Given the description of an element on the screen output the (x, y) to click on. 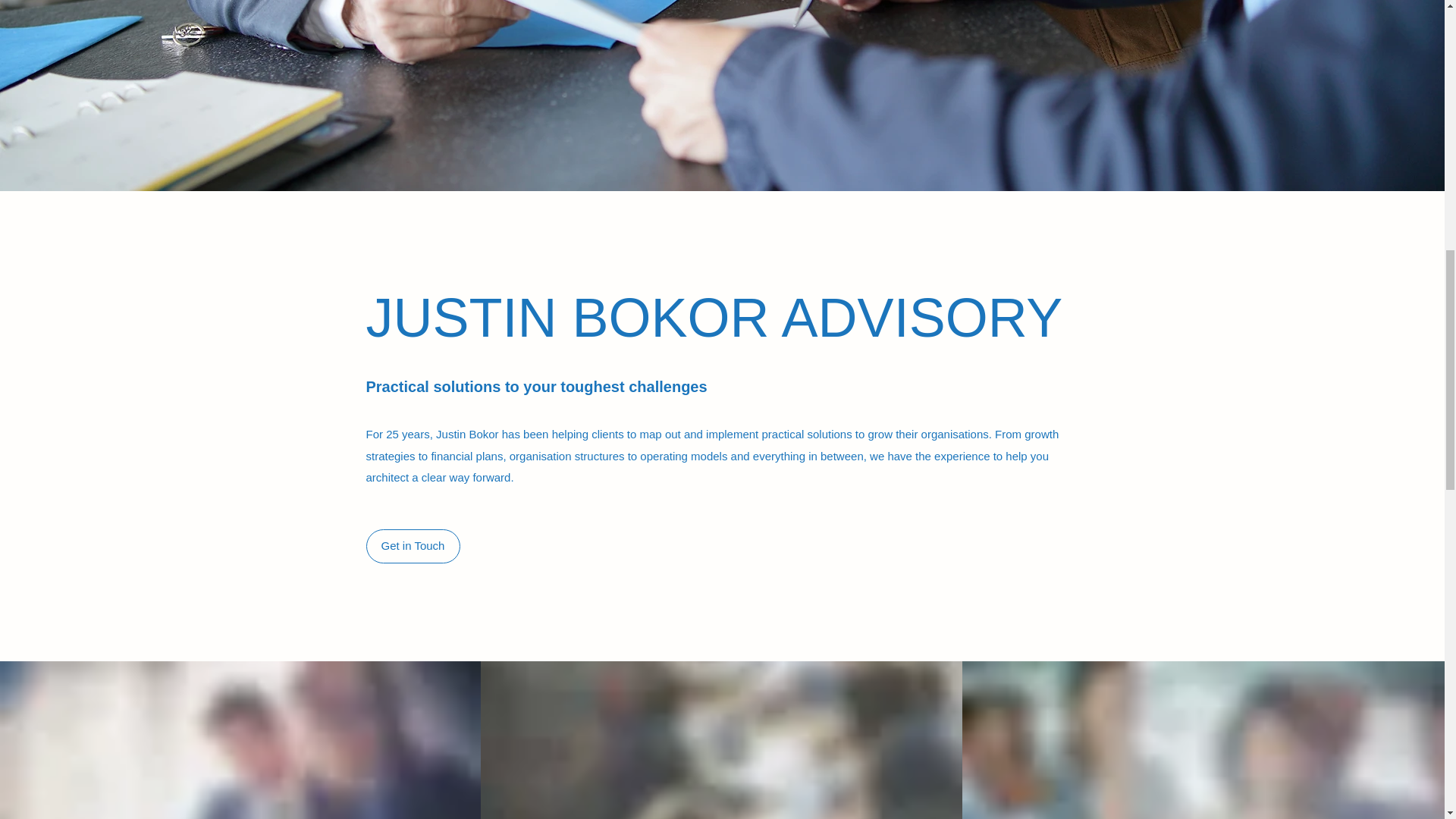
Get in Touch (412, 546)
